Given the description of an element on the screen output the (x, y) to click on. 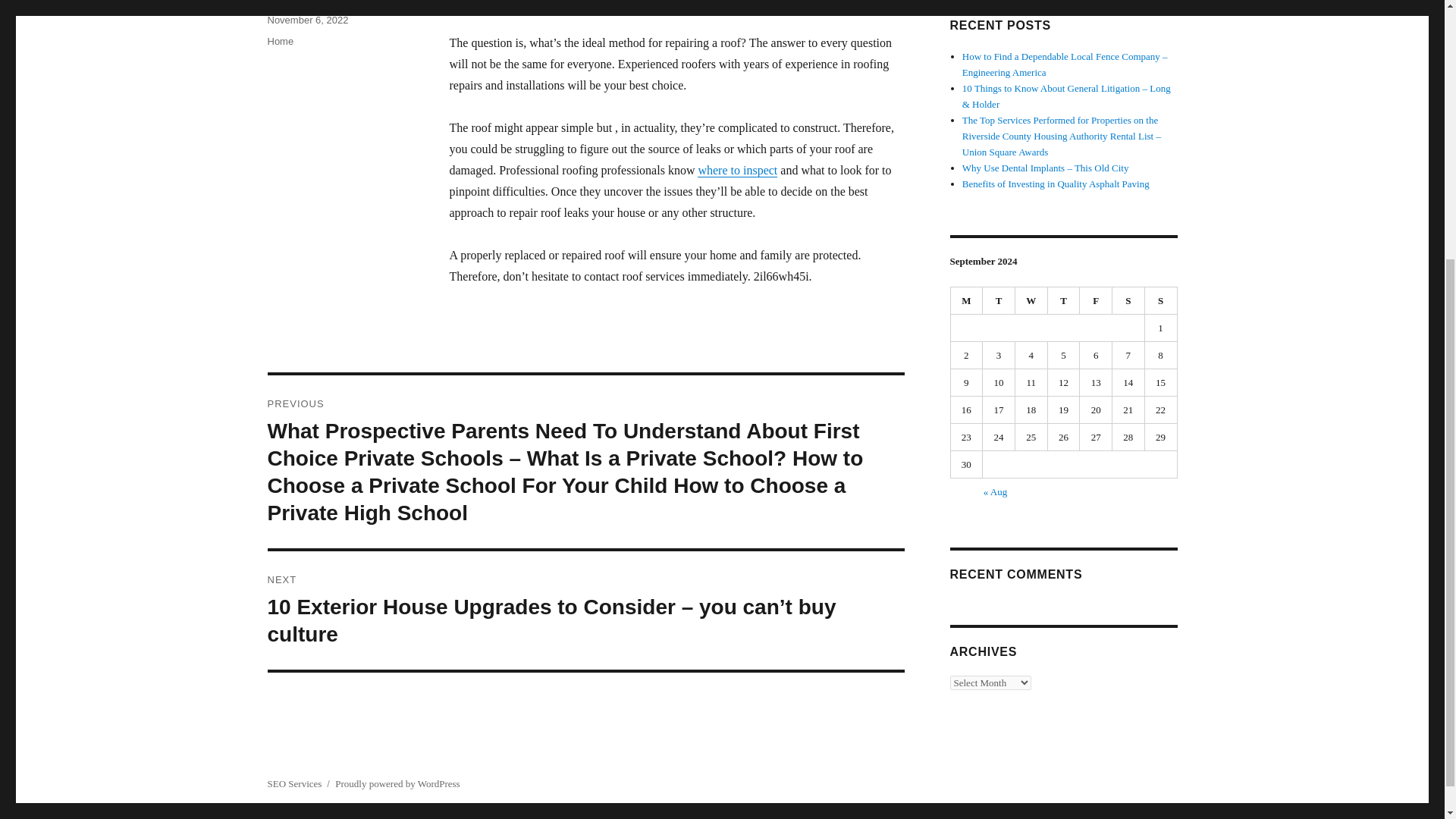
Proudly powered by WordPress (397, 783)
admin (280, 2)
Thursday (1064, 300)
November 6, 2022 (306, 19)
SEO Services (293, 783)
Sunday (1160, 300)
Home (280, 41)
Monday (967, 300)
Benefits of Investing in Quality Asphalt Paving (1056, 183)
Saturday (1128, 300)
